Given the description of an element on the screen output the (x, y) to click on. 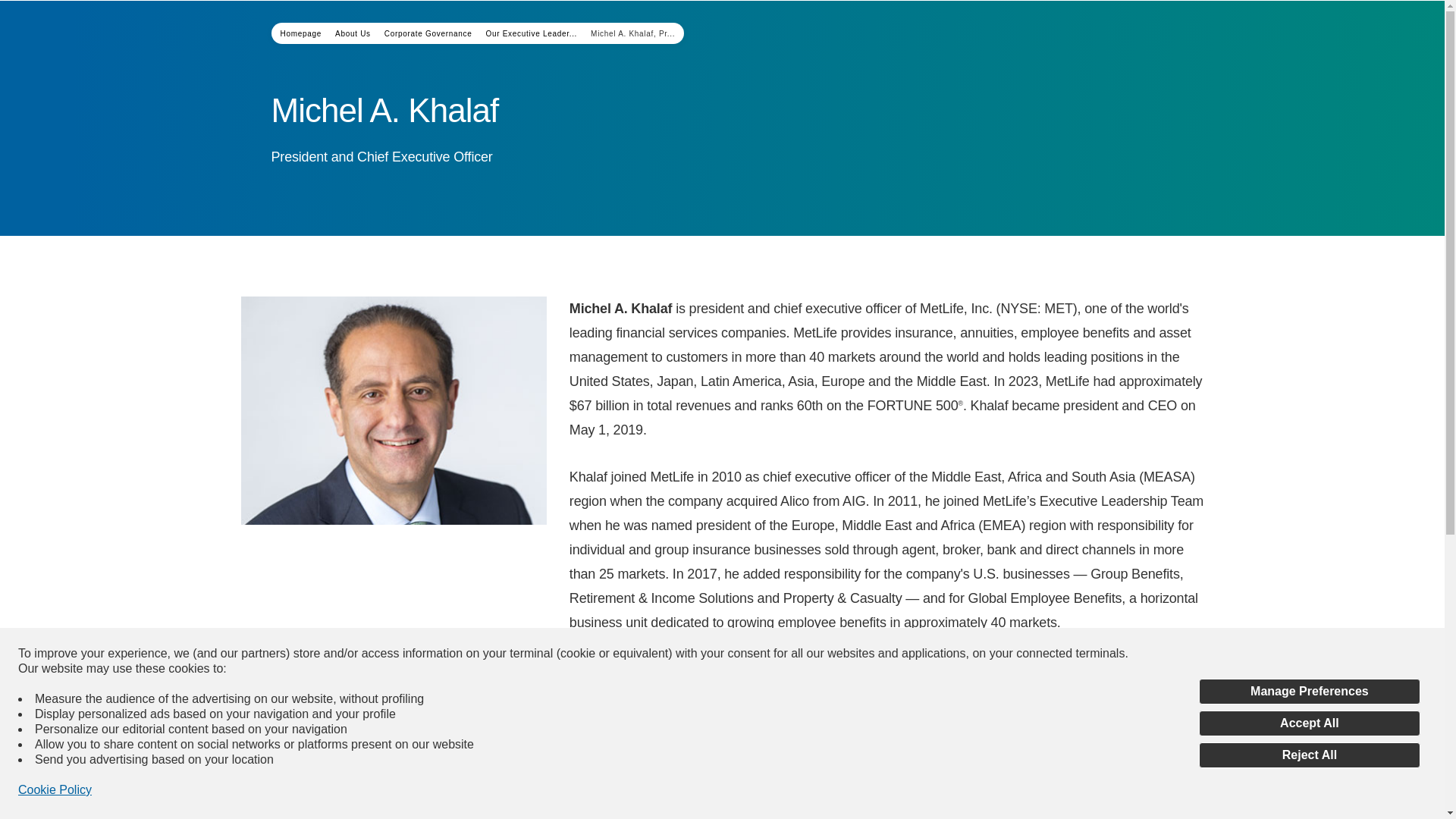
Corporate Governance (427, 32)
Homepage (301, 32)
Accept All (1309, 723)
Manage Preferences (1309, 691)
Cookie Policy (54, 789)
Our Executive Leader... (530, 32)
About Us (352, 32)
Reject All (1309, 755)
